Given the description of an element on the screen output the (x, y) to click on. 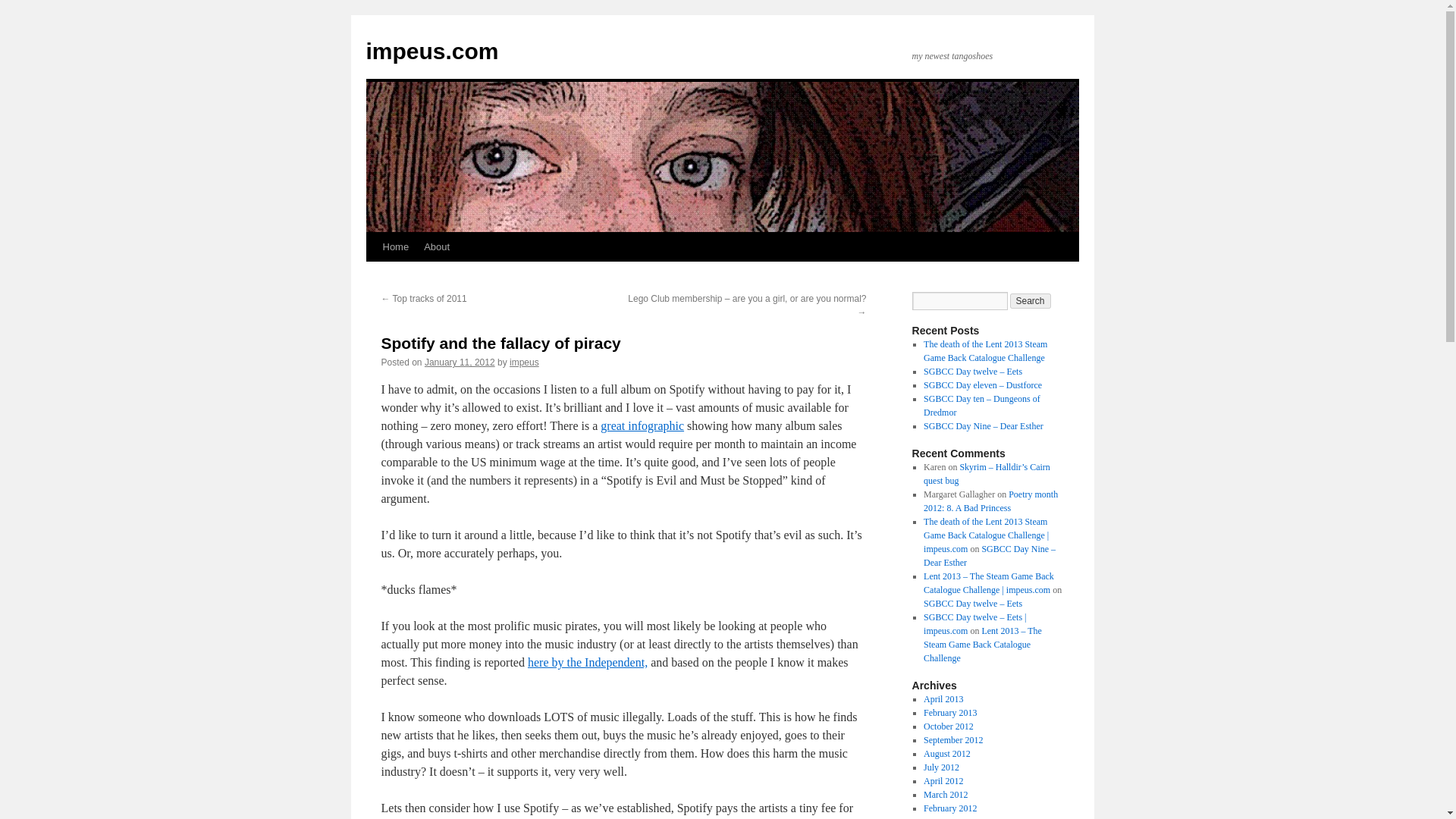
impeus.com (431, 50)
October 2012 (948, 726)
impeus (523, 362)
Home (395, 246)
April 2012 (942, 780)
Poetry month 2012: 8. A Bad Princess (990, 500)
About (436, 246)
April 2013 (942, 698)
January 11, 2012 (460, 362)
